Given the description of an element on the screen output the (x, y) to click on. 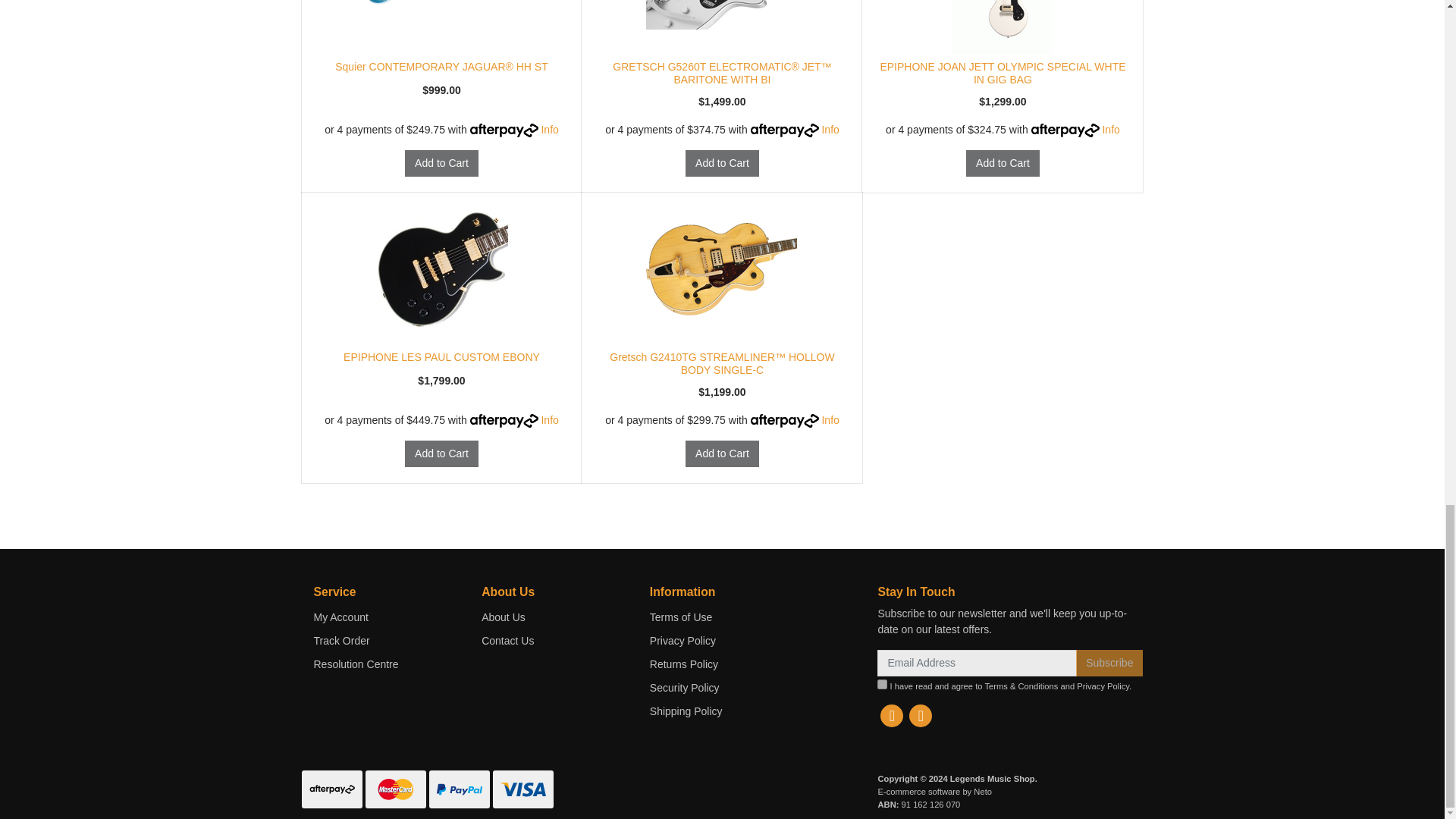
Neto E-commerce (934, 791)
Legends Music Shop on Instagram (919, 715)
Subscribe (1108, 663)
Legends Music Shop on Facebook (891, 715)
y (881, 684)
Add EPIPHONE LES PAUL CUSTOM EBONY to Cart (441, 453)
